Given the description of an element on the screen output the (x, y) to click on. 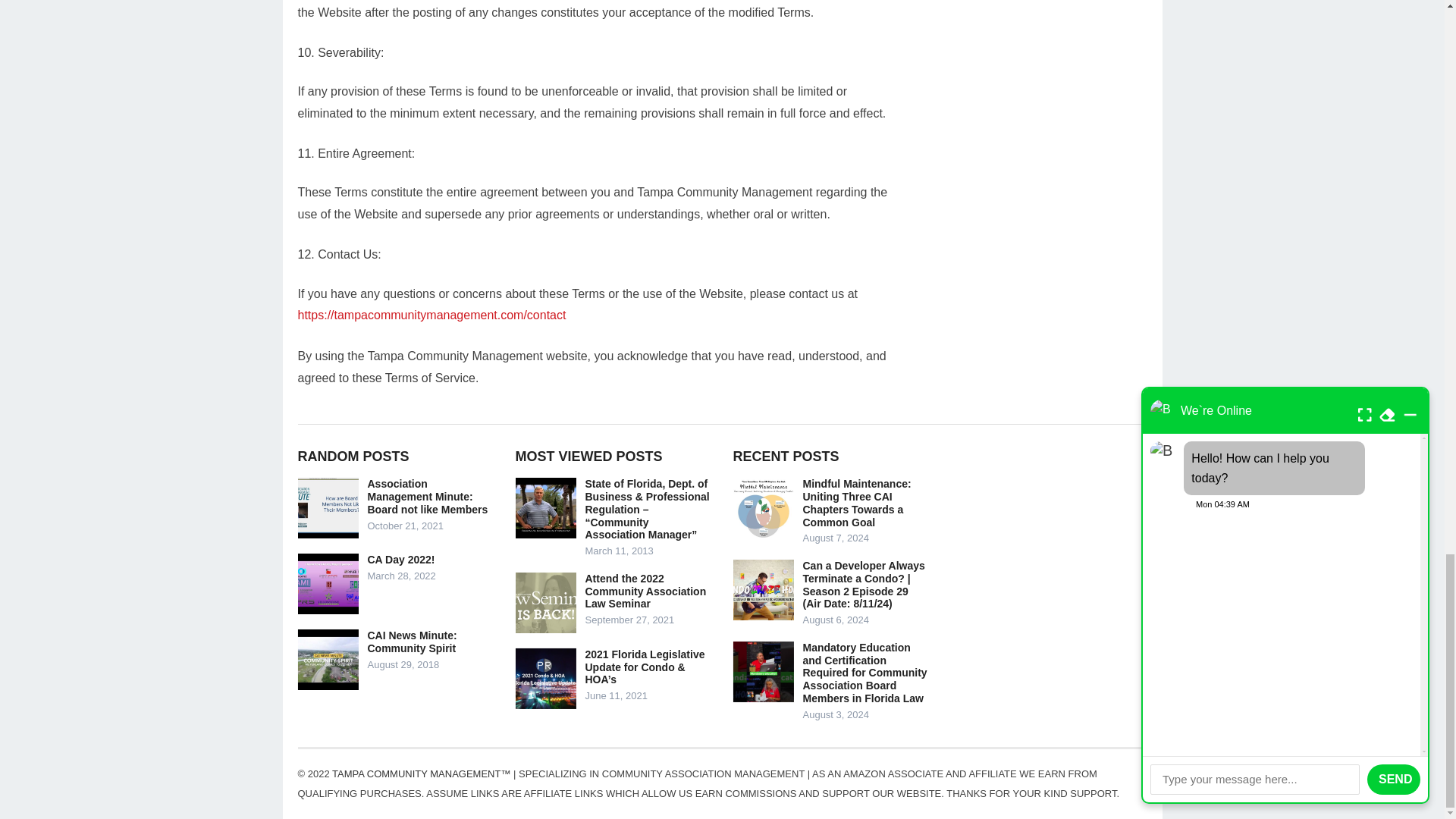
Association Management Minute: Board not like Members 11 (327, 507)
CAI News Minute: Community Spirit 13 (327, 659)
Attend the 2022 Community Association Law Seminar 15 (545, 602)
CA Day 2022! 12 (327, 583)
